Given the description of an element on the screen output the (x, y) to click on. 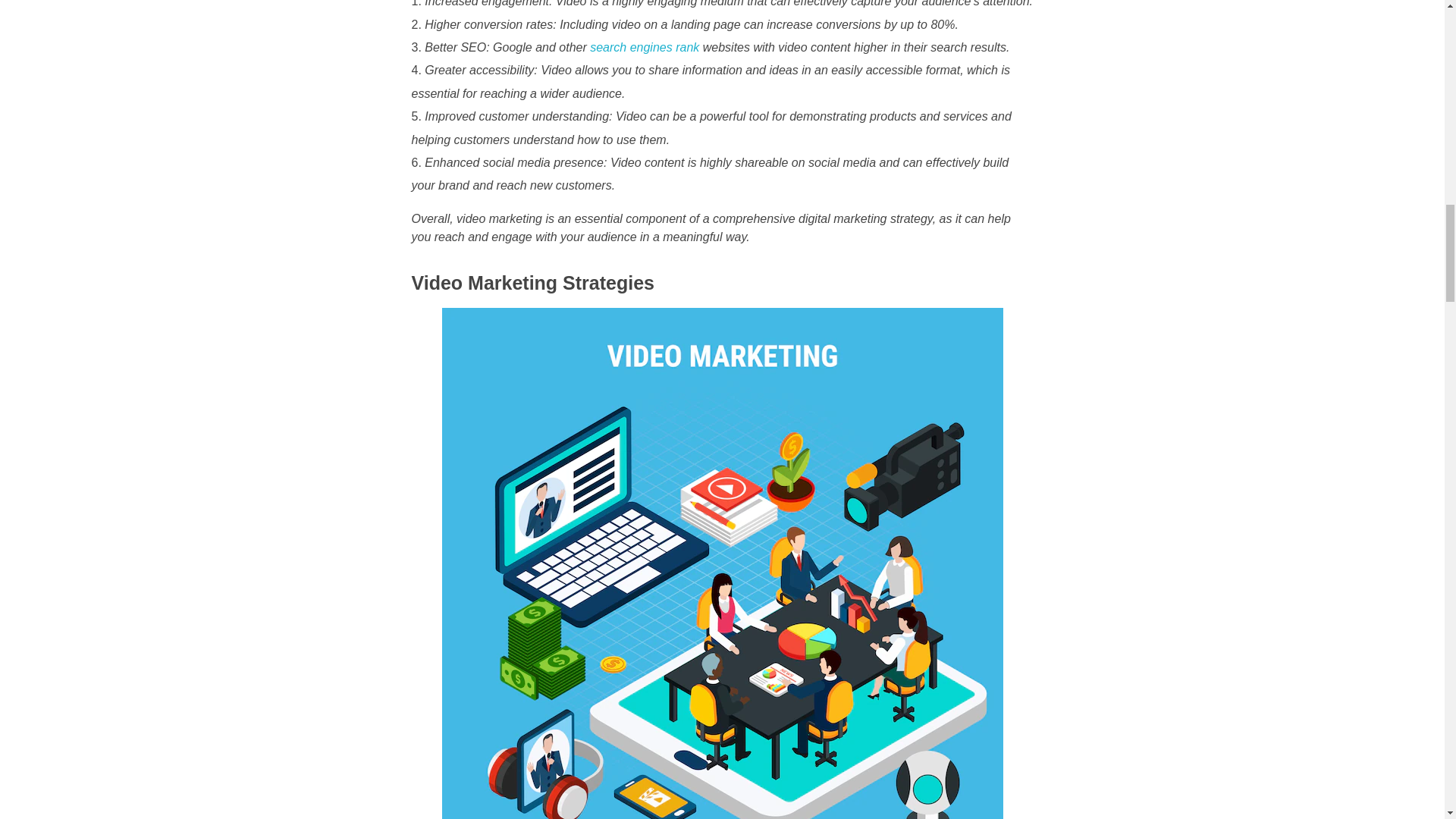
search engines rank (643, 47)
What Is SEO? Benefits, Fundamentals, Rankings, Marketing (643, 47)
